Given the description of an element on the screen output the (x, y) to click on. 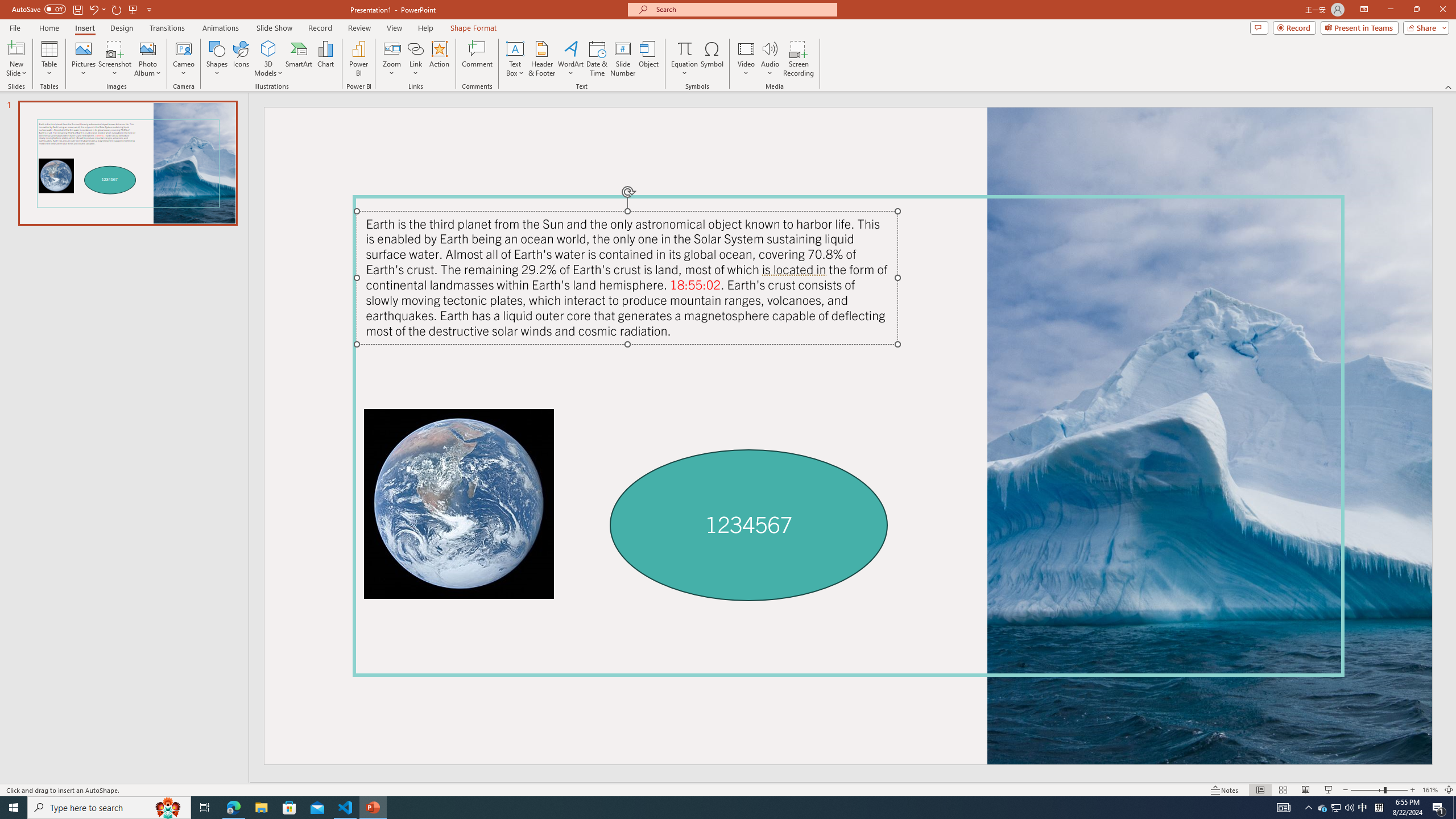
Slide Number (622, 58)
Power BI (358, 58)
Header & Footer... (541, 58)
Date & Time... (596, 58)
Draw Horizontal Text Box (515, 48)
Symbol... (711, 58)
